Given the description of an element on the screen output the (x, y) to click on. 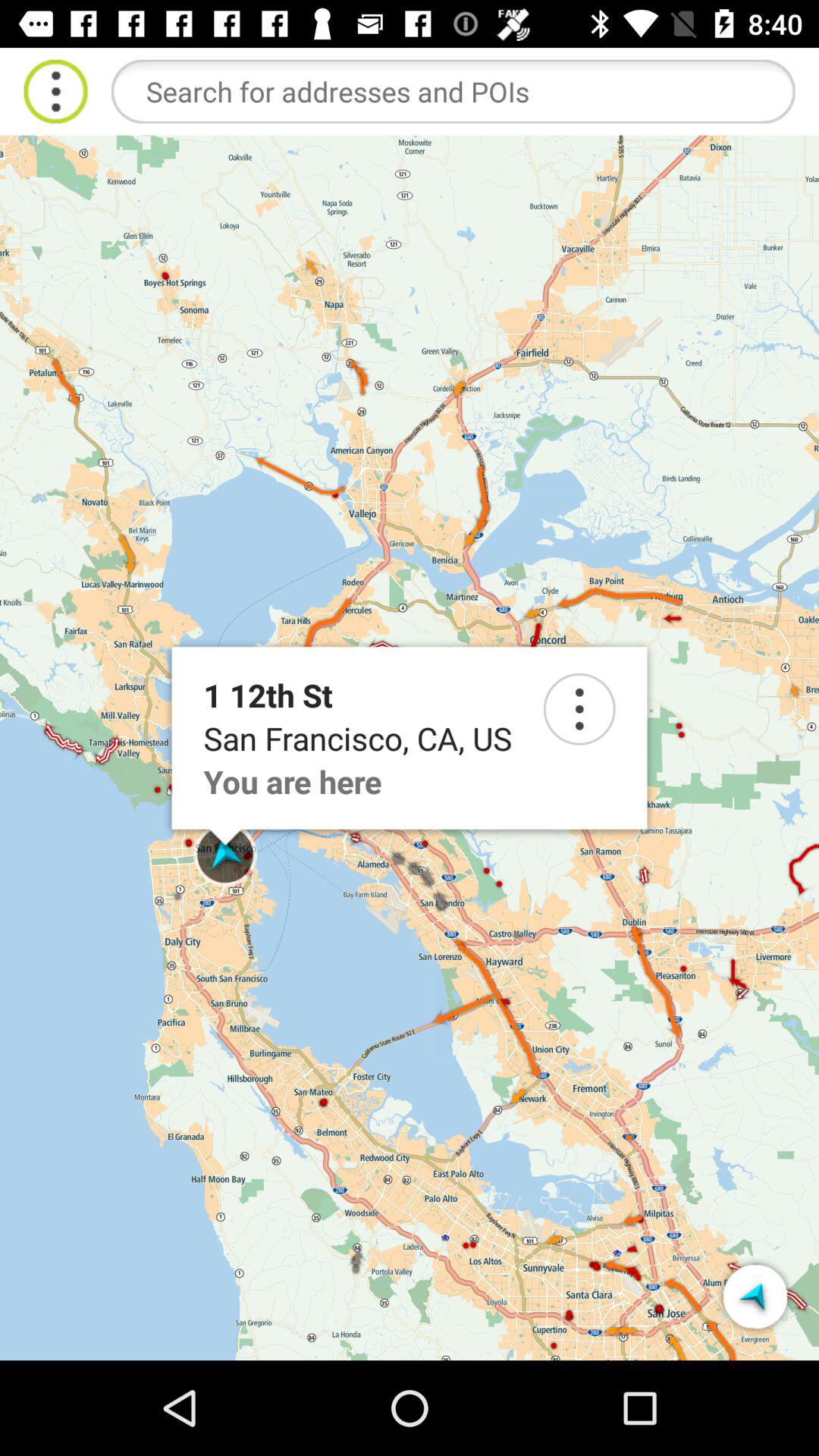
go to home page (55, 91)
